Given the description of an element on the screen output the (x, y) to click on. 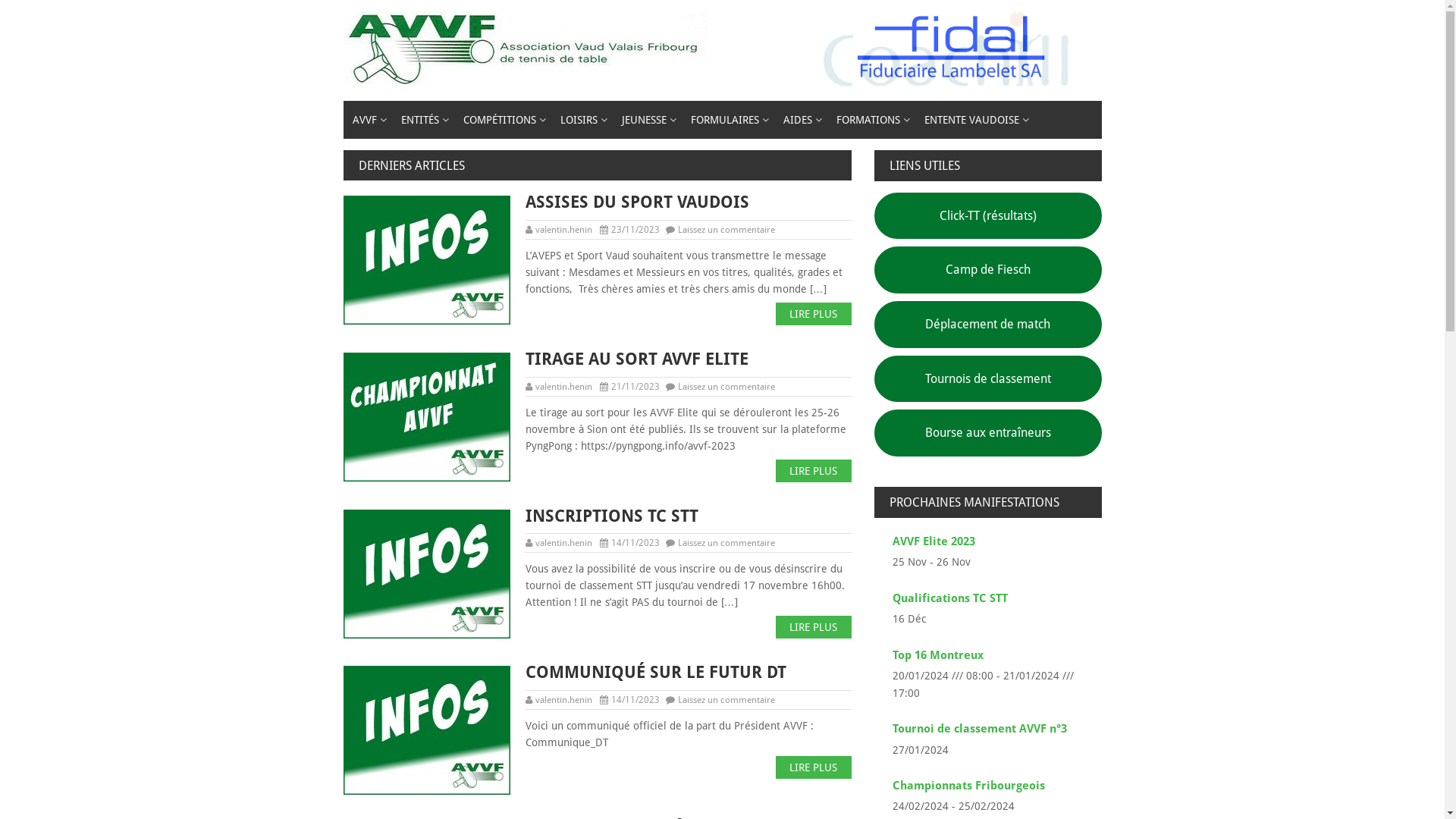
14/11/2023 Element type: text (635, 542)
ENTENTE VAUDOISE Element type: text (973, 119)
JEUNESSE Element type: text (646, 119)
Championnats Fribourgeois Element type: text (967, 785)
Laissez un commentaire Element type: text (726, 699)
Tournois de classement Element type: text (987, 378)
Qualifications TC STT Element type: text (949, 598)
LIRE PLUS Element type: text (812, 470)
Laissez un commentaire Element type: text (726, 386)
valentin.henin Element type: text (563, 542)
Camp de Fiesch Element type: text (987, 269)
AIDES Element type: text (799, 119)
LIRE PLUS Element type: text (812, 767)
23/11/2023 Element type: text (635, 229)
valentin.henin Element type: text (563, 229)
FORMULAIRES Element type: text (726, 119)
14/11/2023 Element type: text (635, 699)
LOISIRS Element type: text (580, 119)
Laissez un commentaire Element type: text (726, 229)
INSCRIPTIONS TC STT Element type: text (596, 516)
valentin.henin Element type: text (563, 699)
21/11/2023 Element type: text (635, 386)
Laissez un commentaire Element type: text (726, 542)
TIRAGE AU SORT AVVF ELITE Element type: text (596, 359)
AVVF Element type: text (366, 119)
FORMATIONS Element type: text (870, 119)
valentin.henin Element type: text (563, 386)
Top 16 Montreux Element type: text (936, 655)
LIRE PLUS Element type: text (812, 313)
Passer au contenu Element type: text (0, 0)
LIRE PLUS Element type: text (812, 626)
ASSISES DU SPORT VAUDOIS Element type: text (596, 202)
AVVF Elite 2023 Element type: text (932, 541)
